Given the description of an element on the screen output the (x, y) to click on. 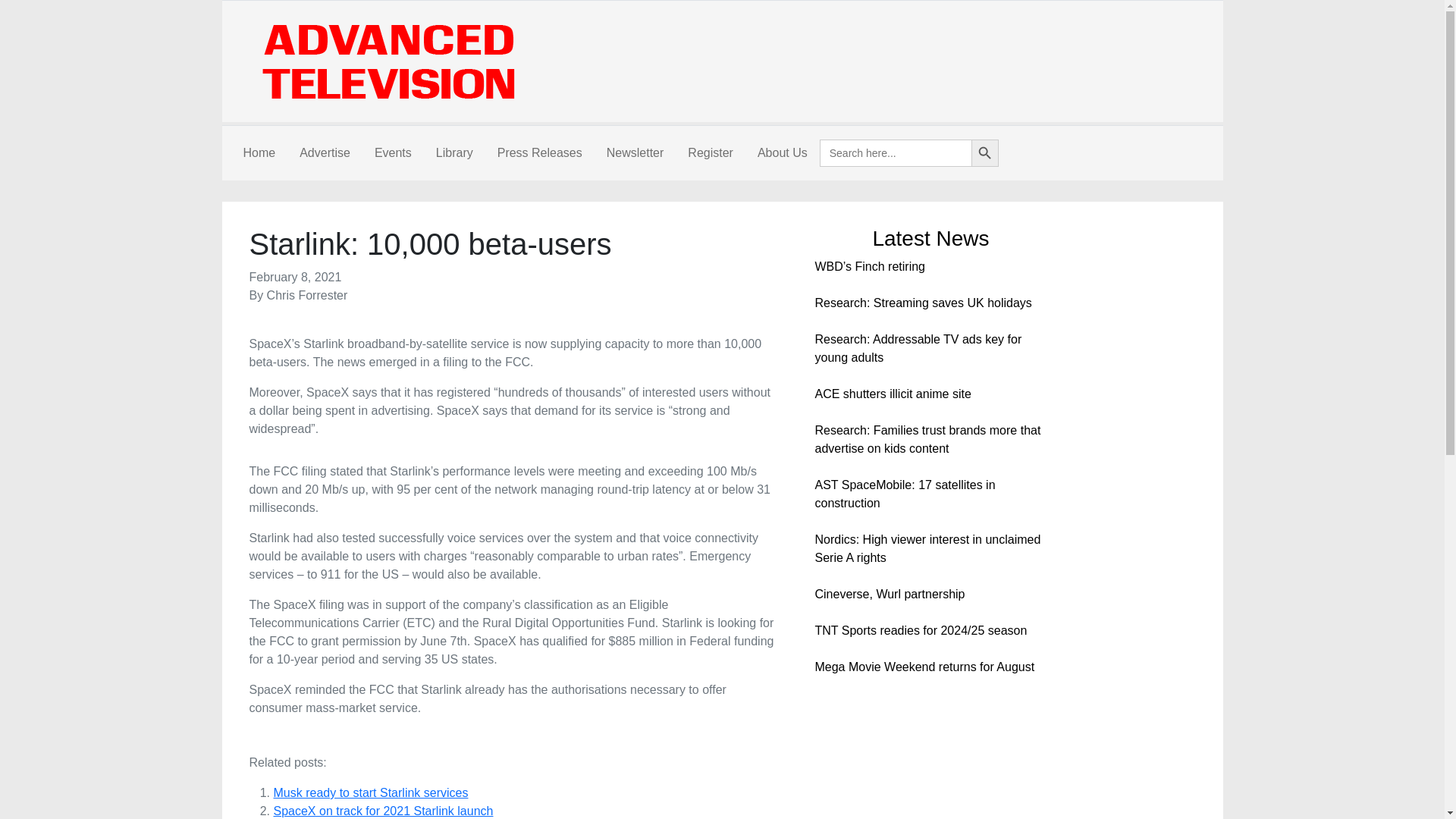
Library (453, 153)
Nordics: High viewer interest in unclaimed Serie A rights (927, 548)
Cineverse, Wurl partnership (888, 594)
Musk ready to start Starlink services (370, 792)
About Us (782, 153)
SpaceX on track for 2021 Starlink launch (383, 810)
Search Button (984, 153)
Research: Streaming saves UK holidays (921, 302)
ACE shutters illicit anime site (892, 393)
